Given the description of an element on the screen output the (x, y) to click on. 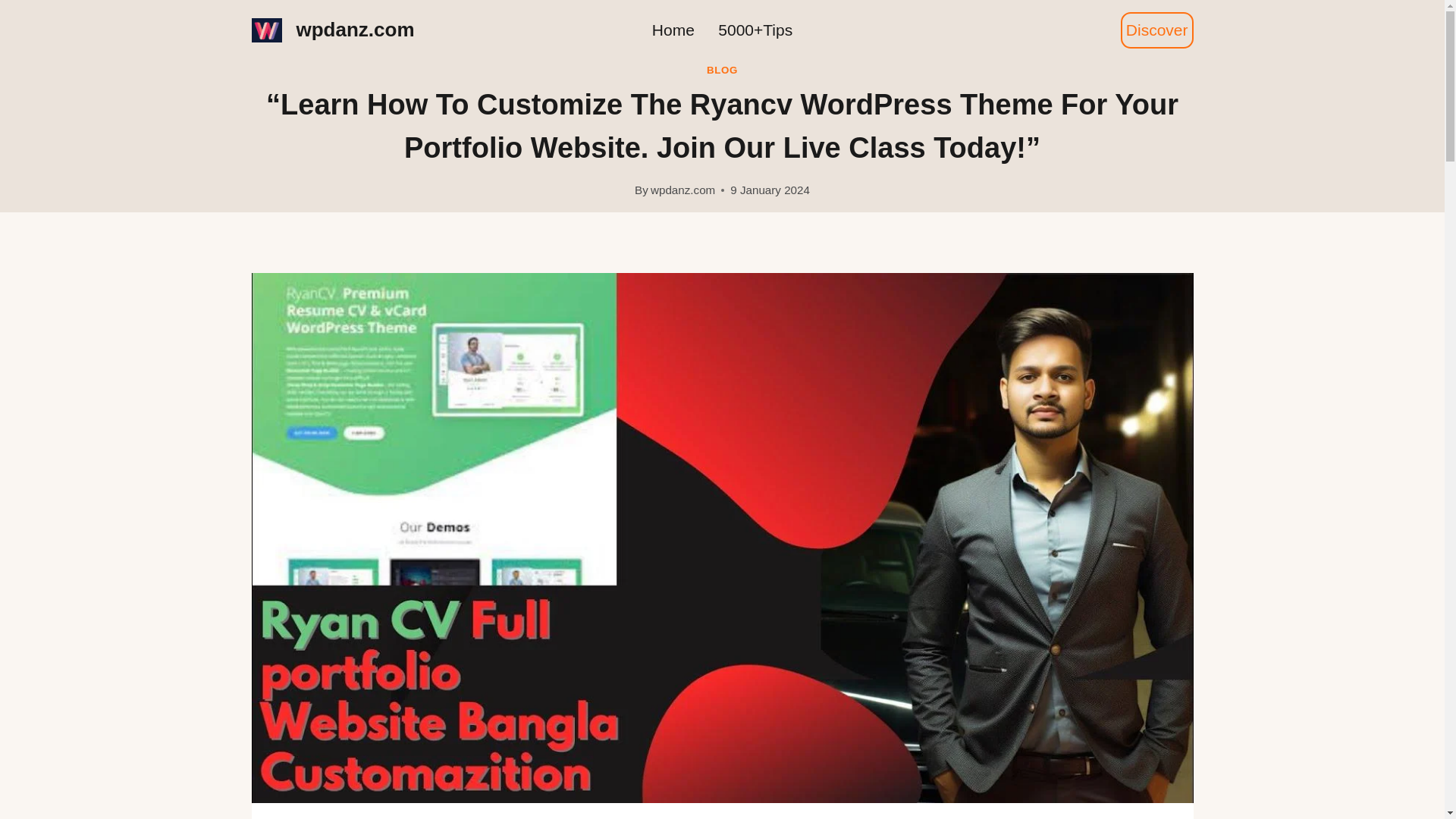
wpdanz.com (332, 30)
Home (673, 30)
Discover (1157, 30)
BLOG (722, 70)
wpdanz.com (682, 189)
